Given the description of an element on the screen output the (x, y) to click on. 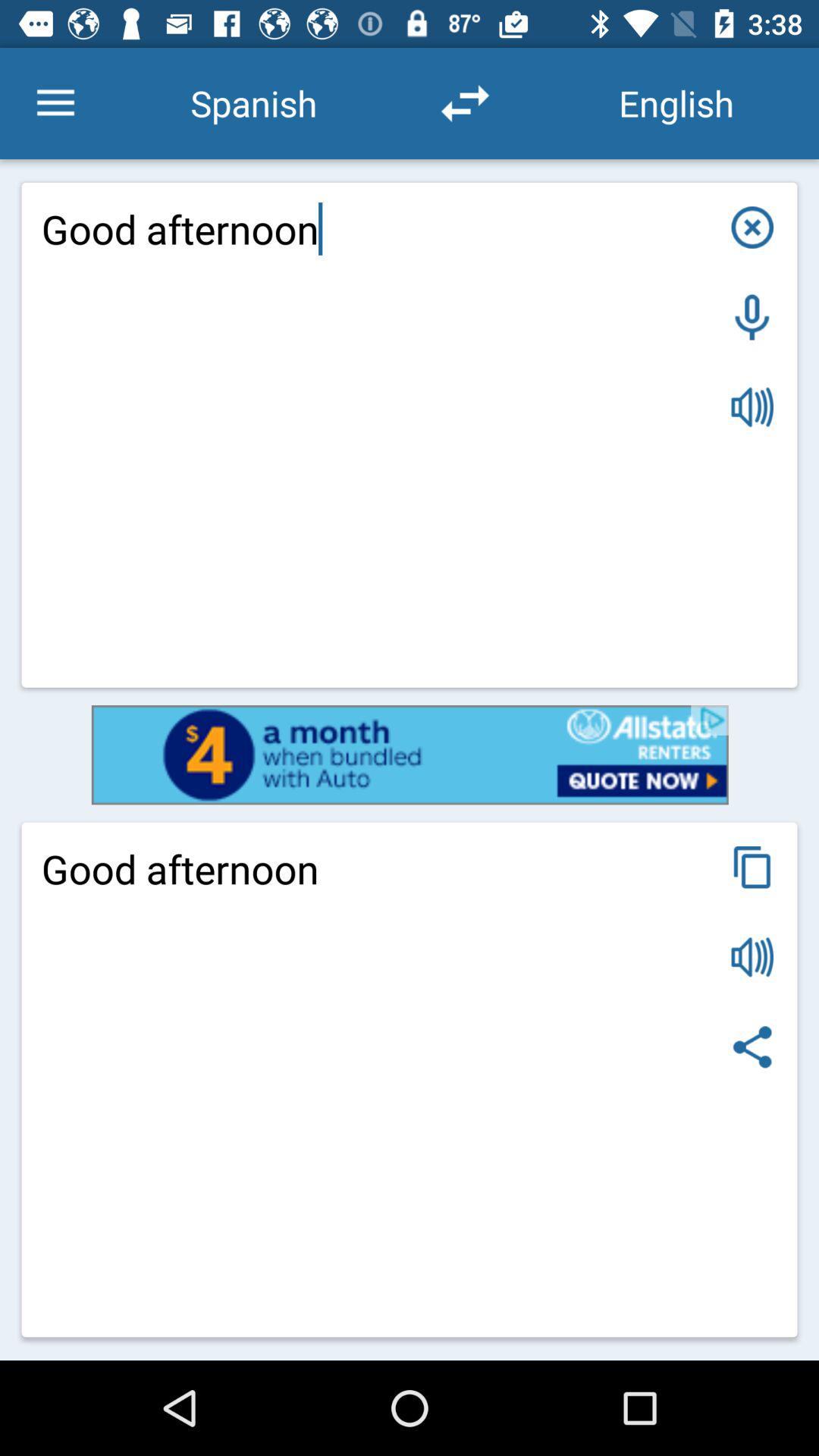
on speaker (752, 407)
